Given the description of an element on the screen output the (x, y) to click on. 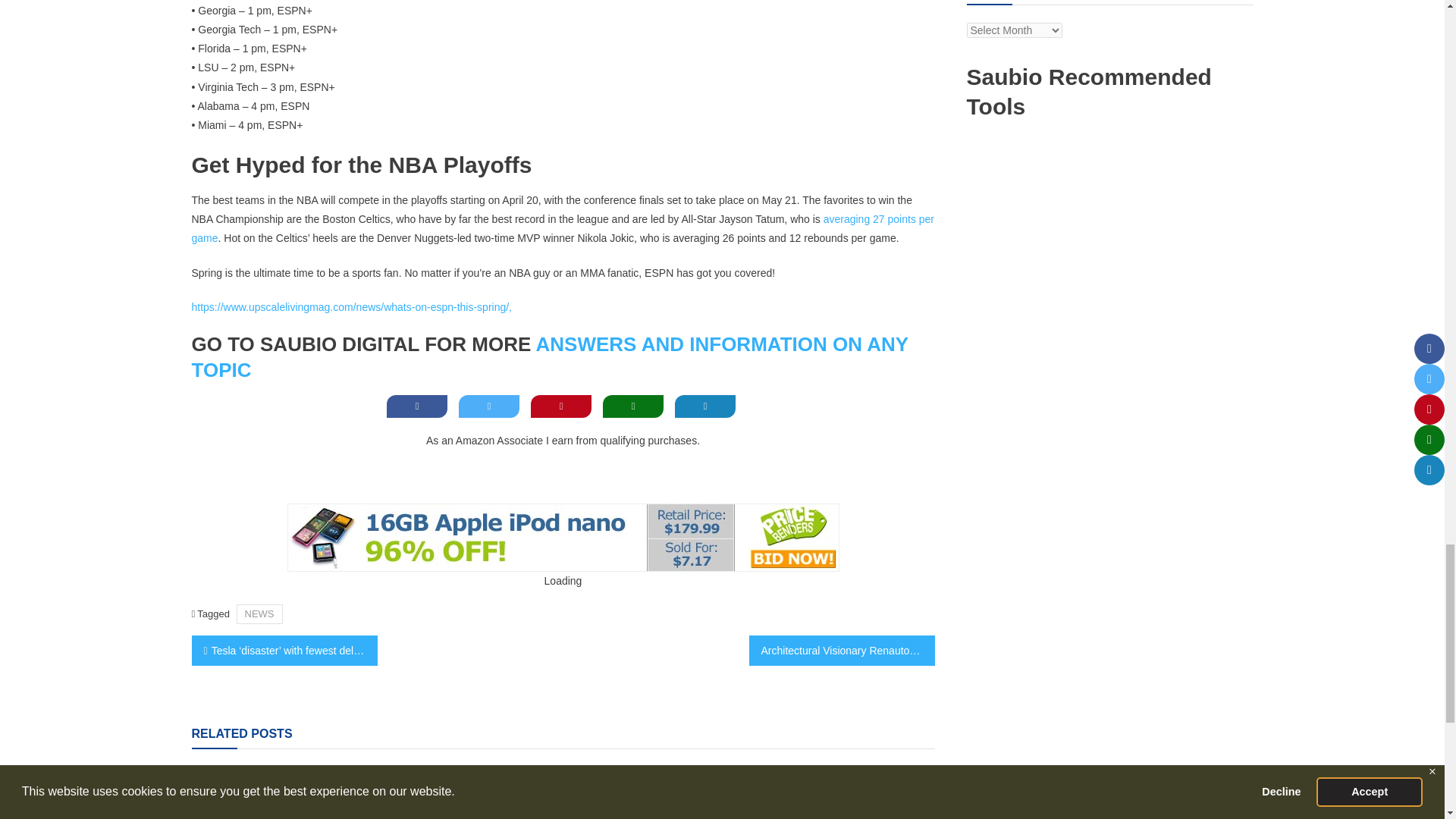
ANSWERS AND INFORMATION ON ANY TOPIC (548, 356)
averaging 27 points per game (562, 228)
